Given the description of an element on the screen output the (x, y) to click on. 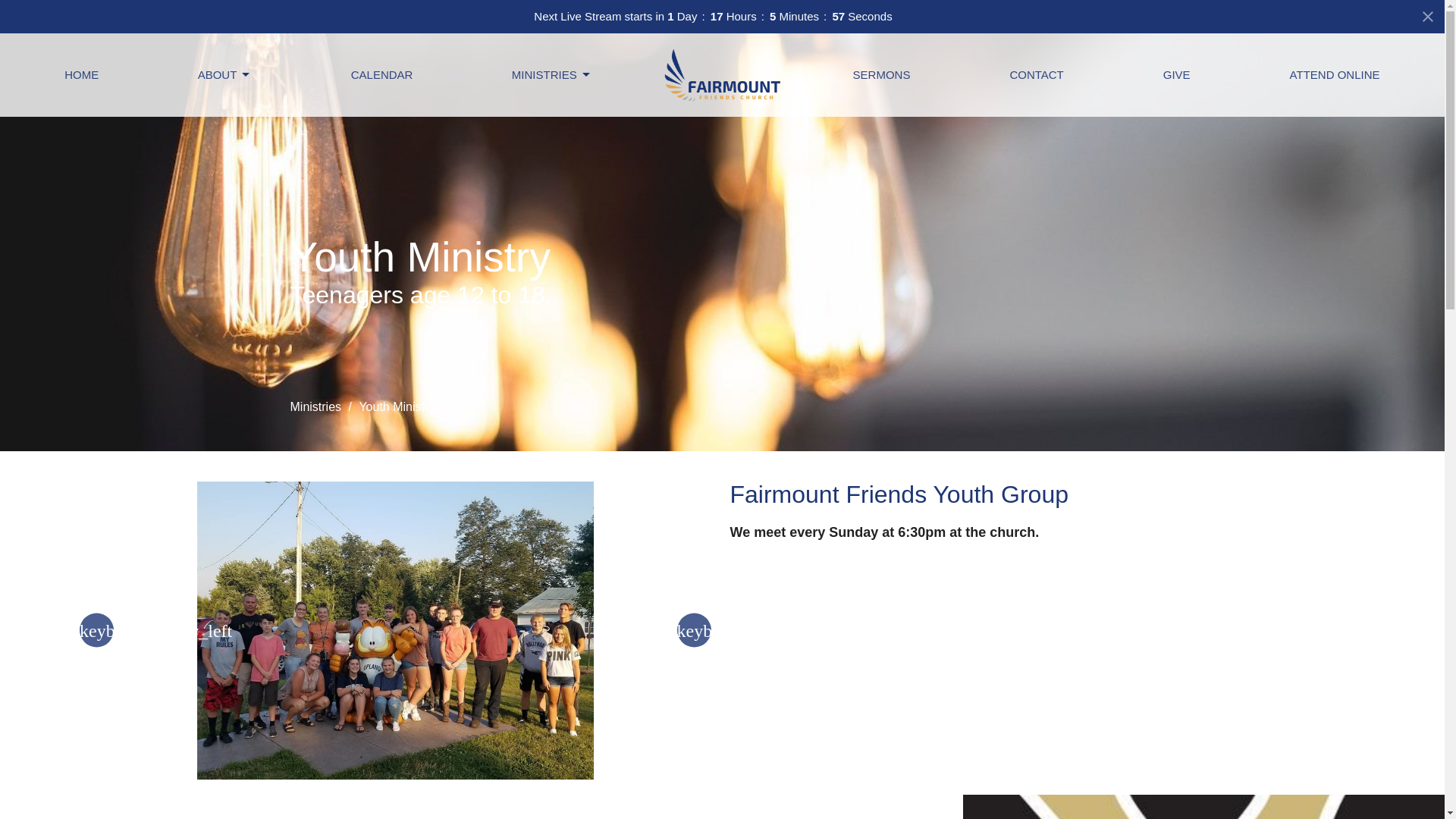
CALENDAR (381, 74)
ABOUT (224, 74)
Ministries (314, 406)
HOME (81, 74)
ATTEND ONLINE (1335, 74)
SERMONS (882, 74)
CONTACT (1035, 74)
GIVE (1177, 74)
MINISTRIES (552, 74)
